Given the description of an element on the screen output the (x, y) to click on. 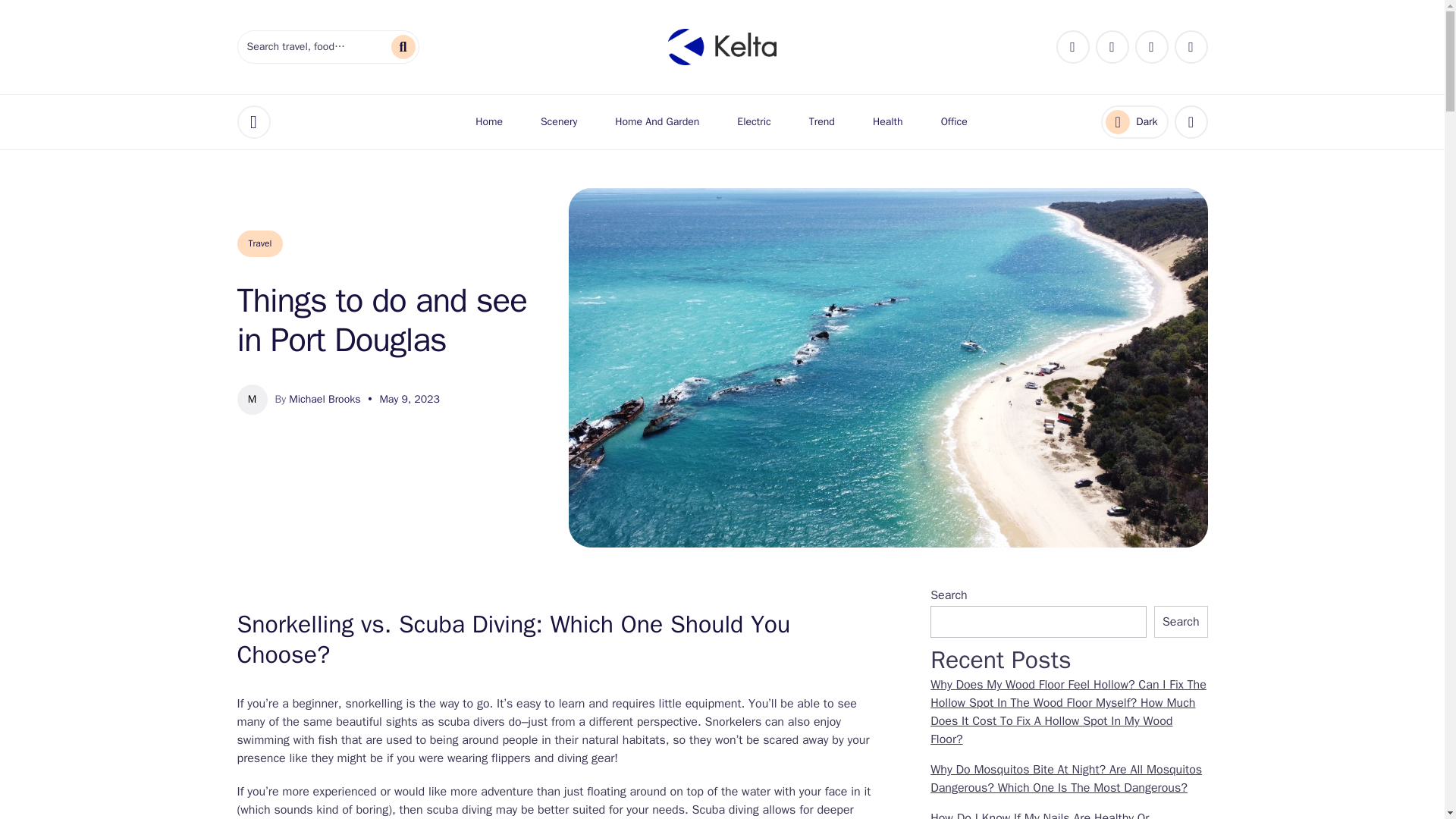
Open menu (252, 121)
Travel (258, 243)
youtube (1152, 46)
Search (1181, 622)
Office (954, 121)
Home (489, 121)
Home And Garden (656, 121)
facebook (1073, 46)
Trend (821, 121)
twitter (1191, 46)
Health (887, 121)
